Given the description of an element on the screen output the (x, y) to click on. 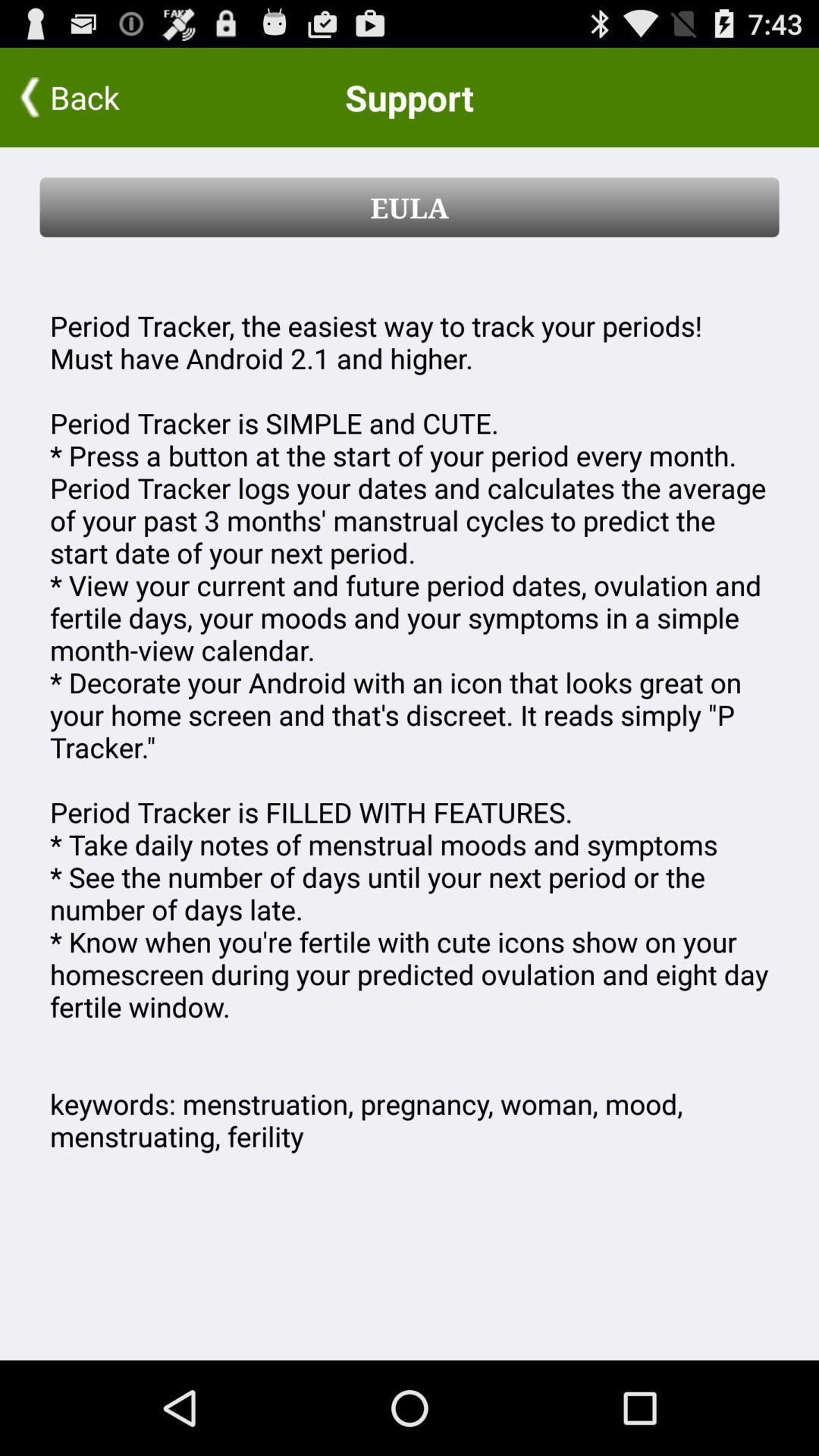
turn on the back button (99, 97)
